Given the description of an element on the screen output the (x, y) to click on. 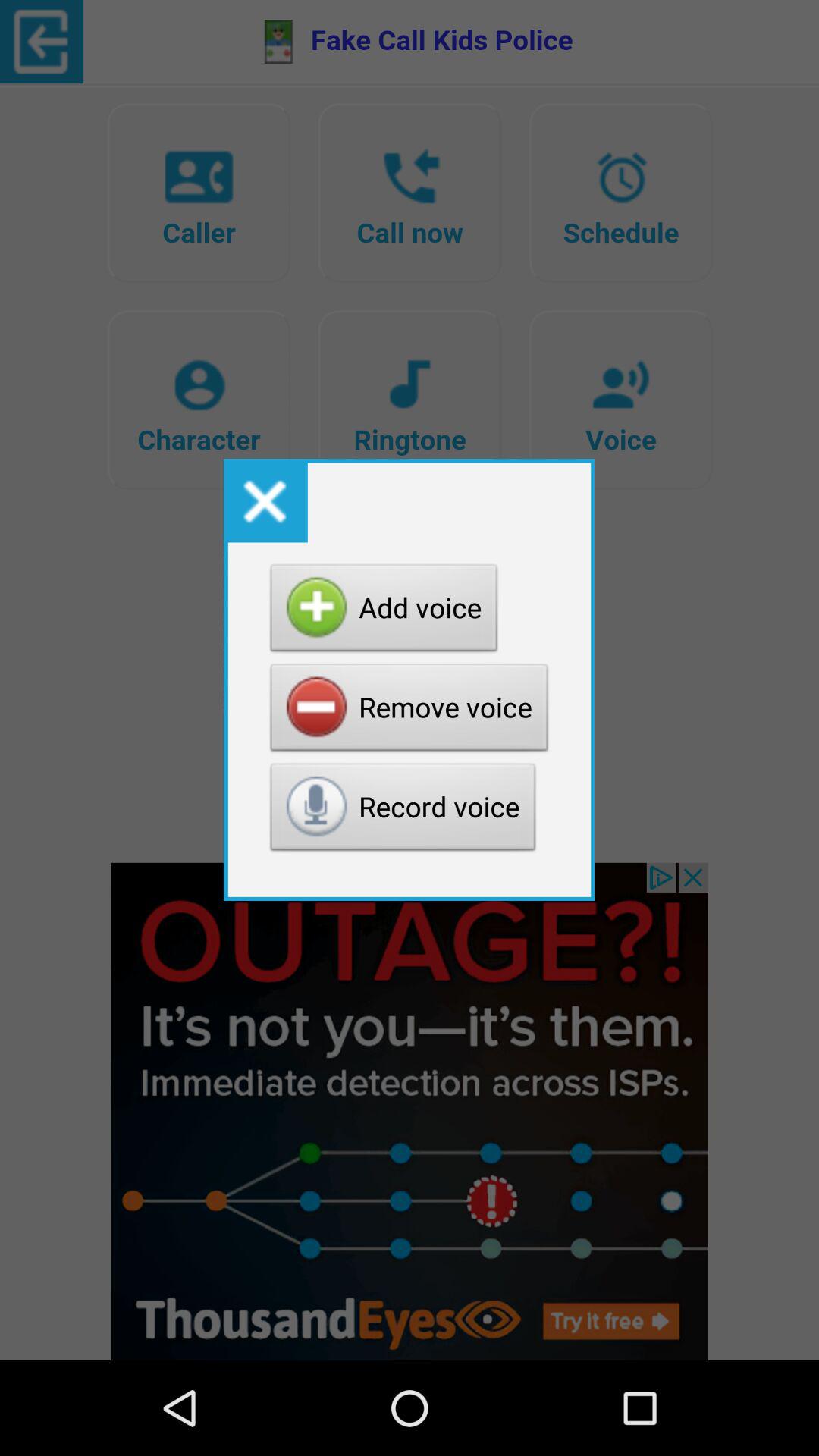
jump to the remove voice button (409, 711)
